Given the description of an element on the screen output the (x, y) to click on. 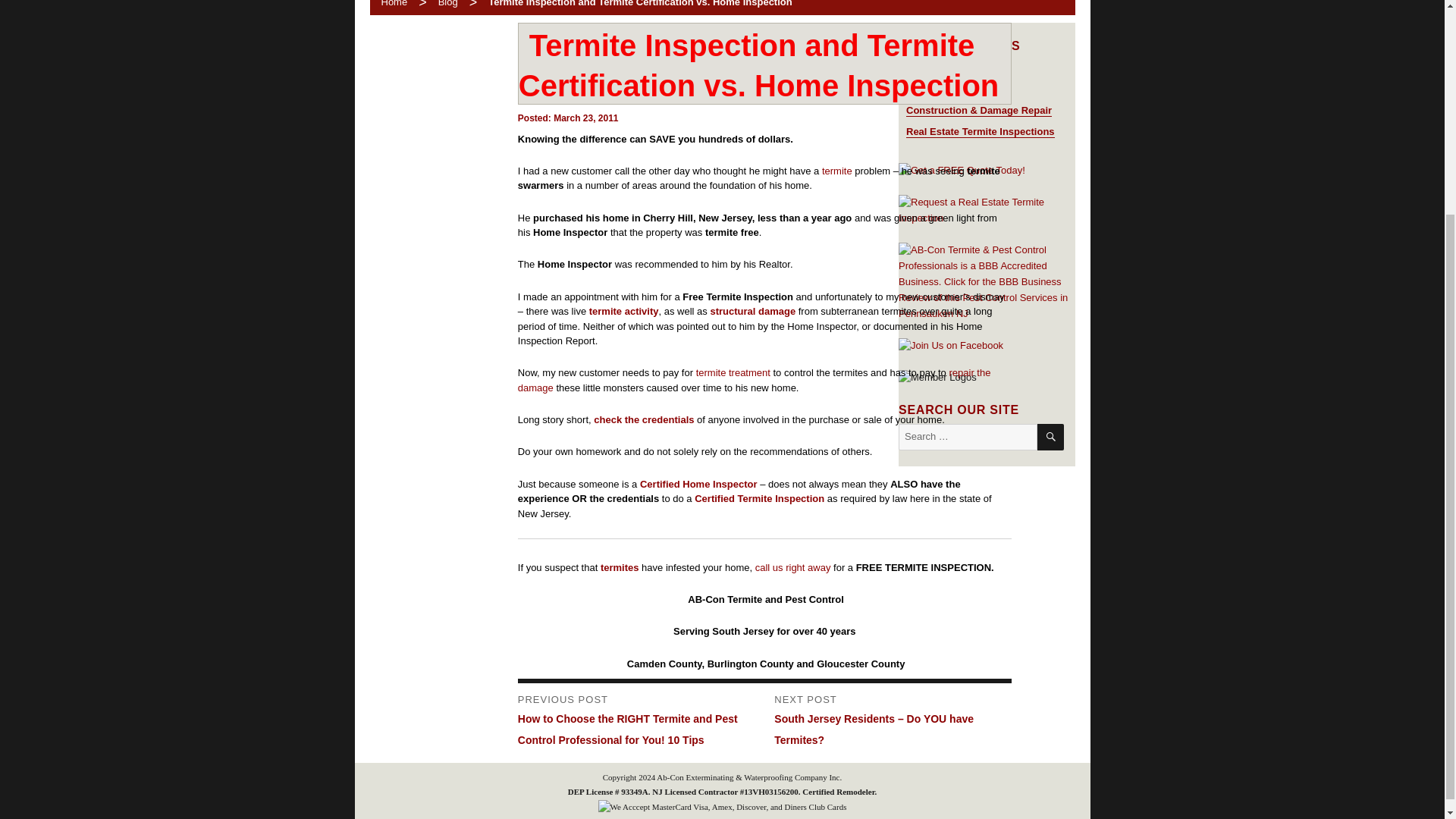
termites (619, 567)
repair the damage (754, 379)
structural damage (752, 310)
termite (836, 170)
Home (388, 3)
termite activity (624, 310)
Real Estate Termite Inspections (979, 131)
Termite Control (941, 66)
Blog (448, 3)
Certified Home Inspector (698, 483)
check the credentials (644, 419)
Certified Termite Inspection (759, 498)
termite treatment (732, 372)
Pest Control (934, 88)
